Given the description of an element on the screen output the (x, y) to click on. 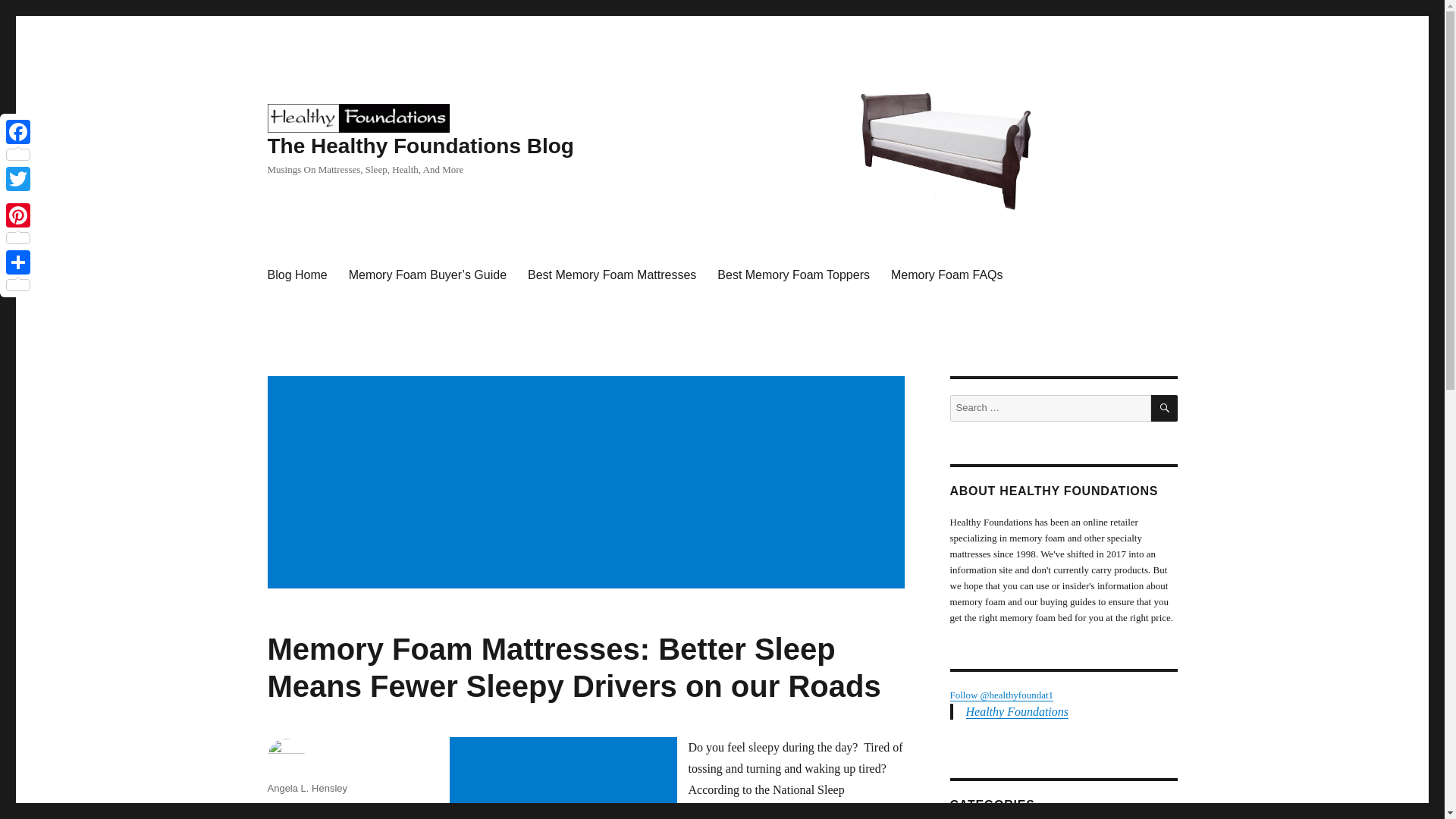
Advertisement (565, 778)
The Healthy Foundations Blog (357, 116)
Best Memory Foam Mattresses (611, 275)
The Healthy Foundations Blog (419, 146)
Best Memory Foam Toppers (793, 275)
July 21, 2015 (295, 808)
Blog Home (296, 275)
Twitter (17, 178)
SEARCH (1164, 407)
Healthy Foundations (1017, 711)
Memory Foam FAQs (946, 275)
Angela L. Hensley (306, 787)
